Given the description of an element on the screen output the (x, y) to click on. 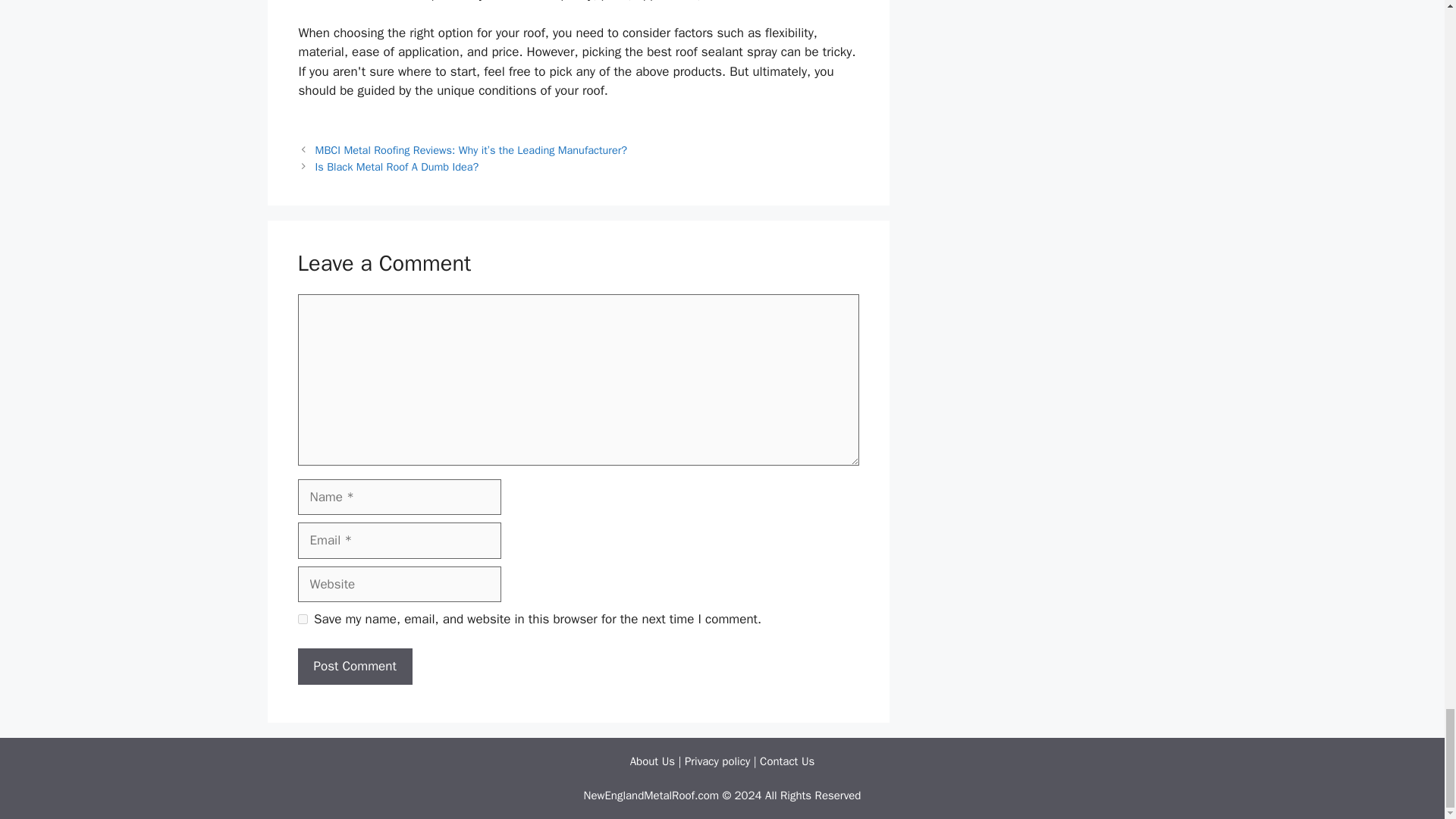
Post Comment (354, 666)
Contact Us (786, 761)
Post Comment (354, 666)
yes (302, 619)
About Us (652, 761)
Privacy policy (716, 761)
Is Black Metal Roof A Dumb Idea? (397, 166)
